Given the description of an element on the screen output the (x, y) to click on. 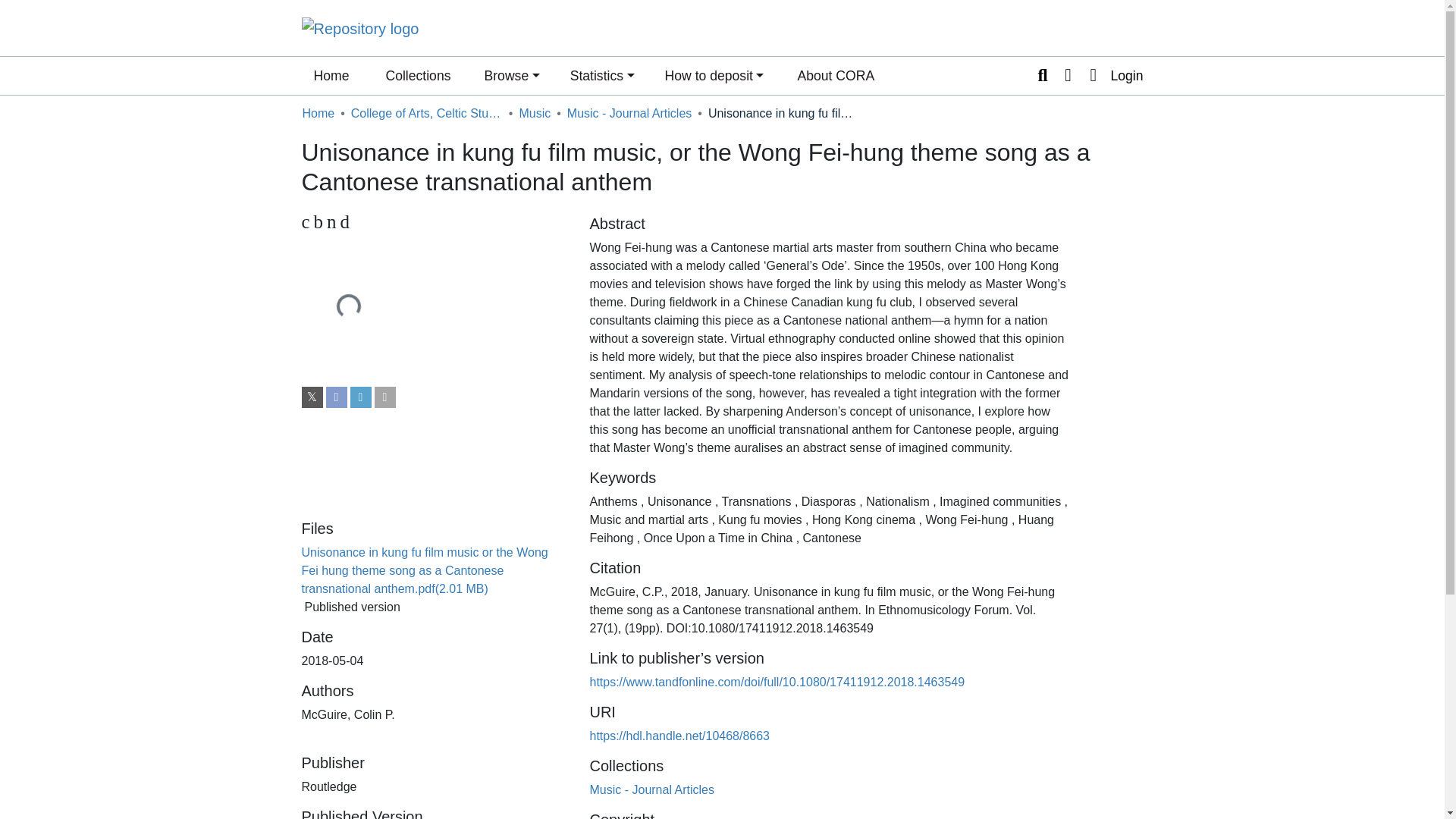
Home (331, 75)
Music - Journal Articles (651, 789)
About CORA (434, 222)
Search (835, 75)
Home (1041, 75)
Home (331, 75)
Collections (317, 113)
Music (417, 75)
Browse (534, 113)
